Given the description of an element on the screen output the (x, y) to click on. 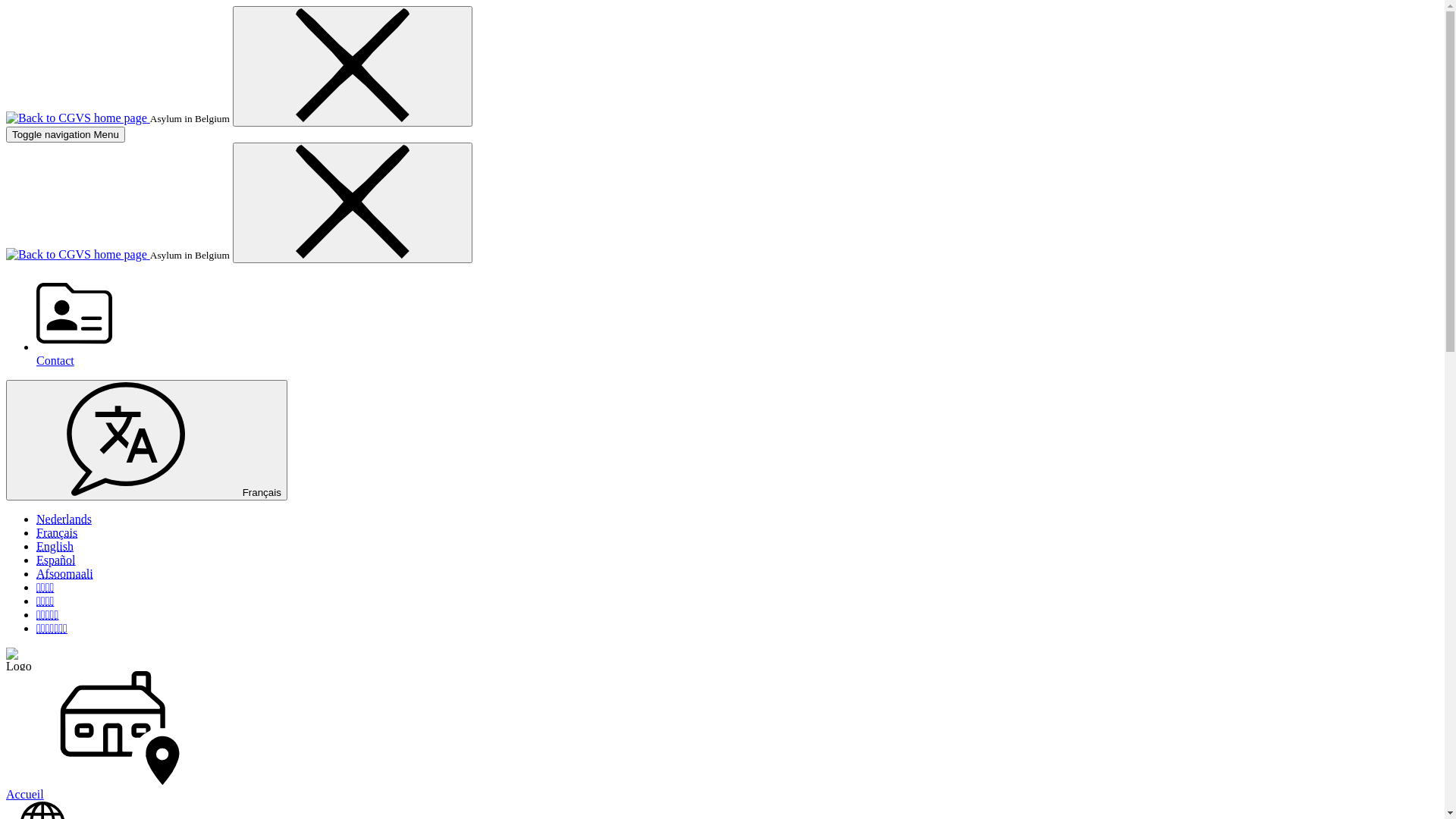
English Element type: text (54, 545)
Accueil Element type: text (722, 736)
Toggle navigation Menu Element type: text (65, 134)
Aller au contenu principal Element type: text (6, 6)
Nederlands Element type: text (63, 518)
Back to the home page Element type: hover (78, 117)
Contact Element type: text (737, 321)
Back to the home page Element type: hover (78, 253)
Afsoomaali Element type: text (64, 573)
